Given the description of an element on the screen output the (x, y) to click on. 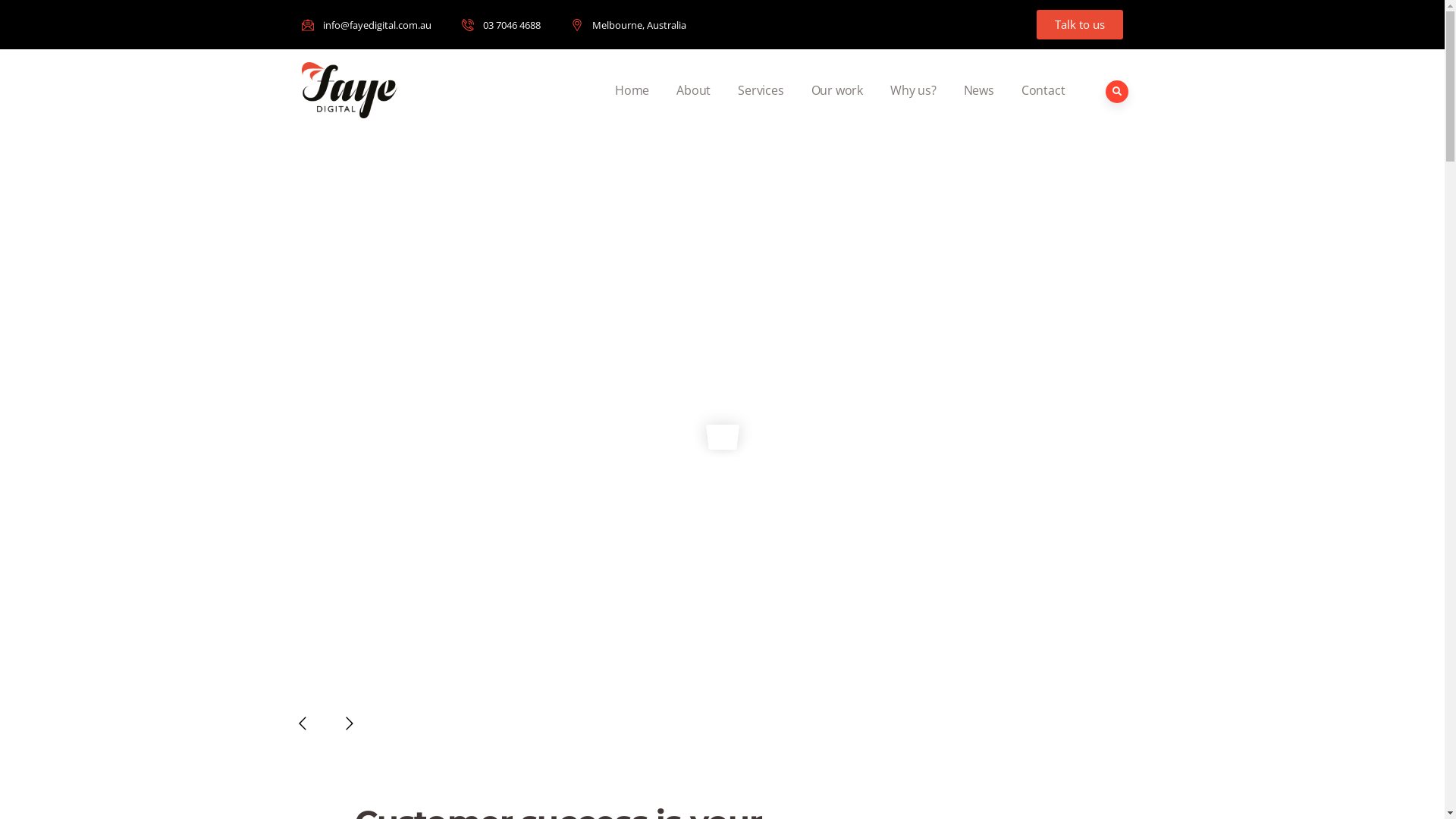
News Element type: text (978, 90)
Contact Element type: text (1043, 90)
Talk to us Element type: text (1078, 24)
Home Element type: text (631, 90)
Services Element type: text (760, 90)
info@fayedigital.com.au Element type: text (366, 24)
Our work Element type: text (836, 90)
Why us? Element type: text (913, 90)
Home Element type: hover (349, 90)
03 7046 4688 Element type: text (500, 24)
About Element type: text (693, 90)
